Given the description of an element on the screen output the (x, y) to click on. 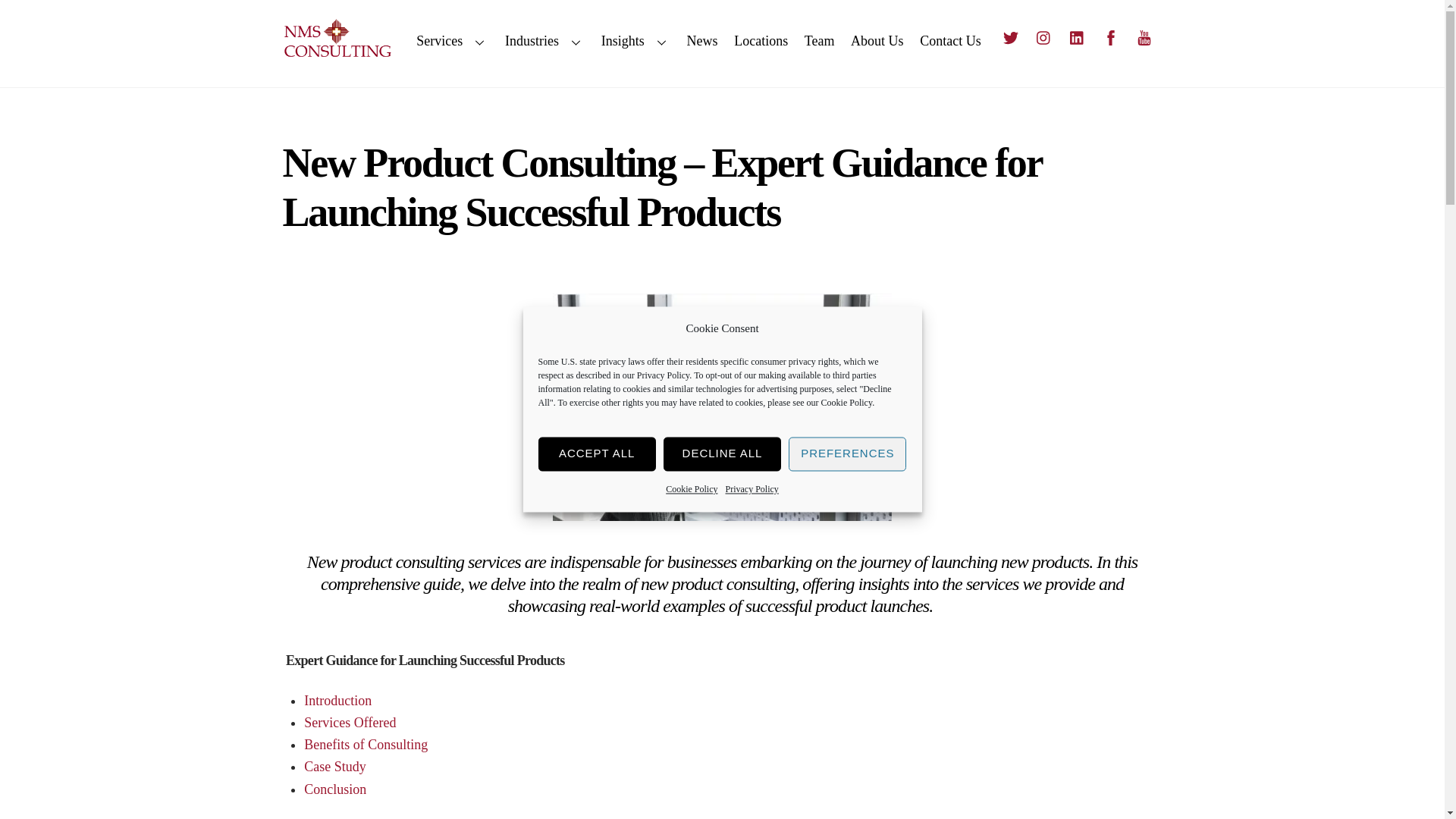
Services (451, 41)
ACCEPT ALL (597, 453)
new product consulting (722, 406)
NMS Consulting (337, 54)
DECLINE ALL (721, 453)
Privacy Policy (751, 489)
Cookie Policy (846, 403)
PREFERENCES (847, 453)
Privacy Policy (663, 376)
Cookie Policy (691, 489)
Industries (544, 41)
